Given the description of an element on the screen output the (x, y) to click on. 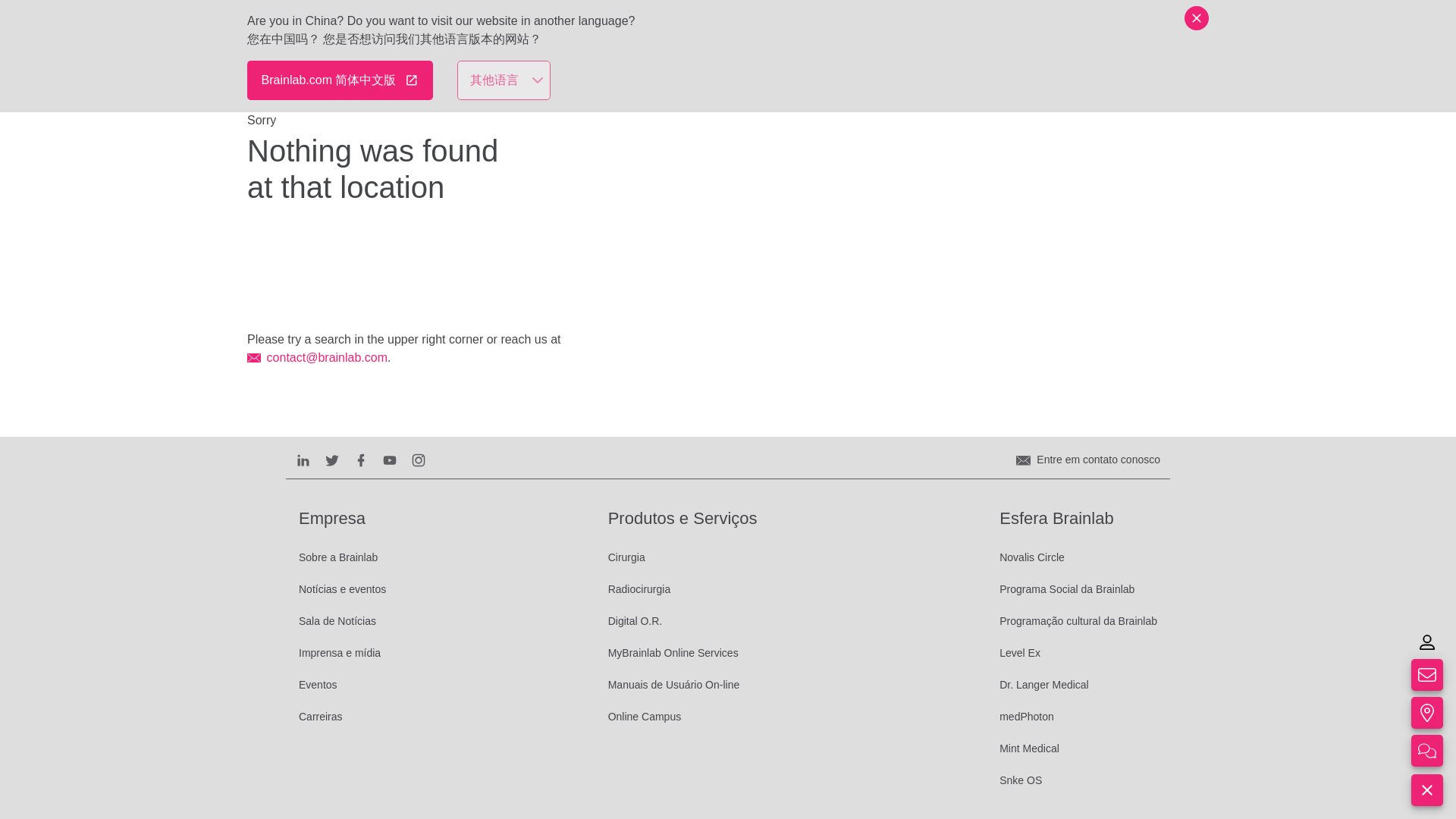
BP (1187, 33)
